Given the description of an element on the screen output the (x, y) to click on. 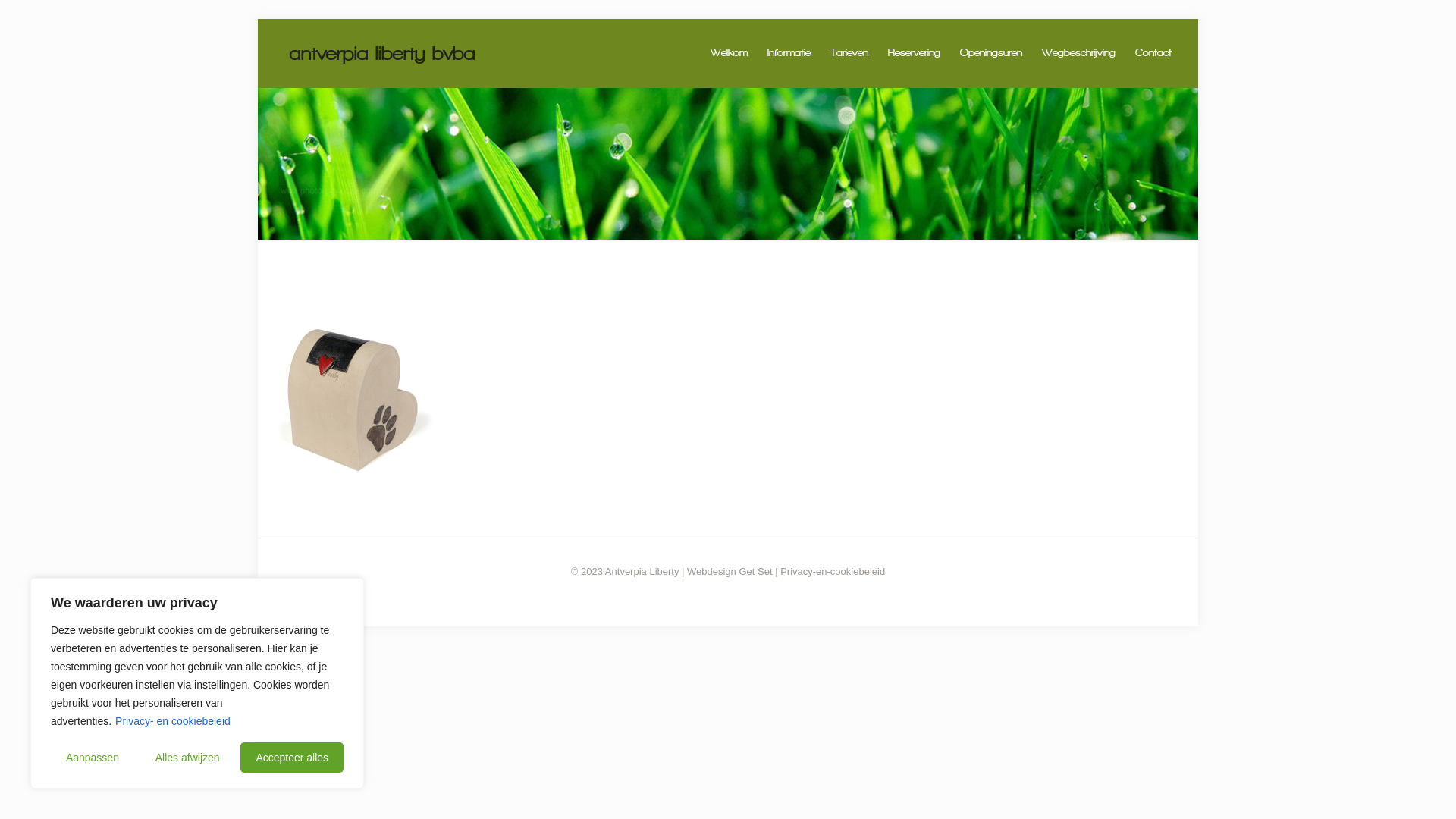
Reservering Element type: text (914, 52)
Wegbeschrijving Element type: text (1078, 52)
Aanpassen Element type: text (92, 757)
Informatie Element type: text (788, 52)
Contact Element type: text (1153, 52)
Get Set Element type: text (754, 571)
Privacy-en-cookiebeleid Element type: text (832, 571)
Welkom Element type: text (728, 52)
Alles afwijzen Element type: text (187, 757)
Tarieven Element type: text (849, 52)
Privacy- en cookiebeleid Element type: text (172, 721)
antverpia liberty bvba Element type: text (382, 52)
Openingsuren Element type: text (991, 52)
Accepteer alles Element type: text (291, 757)
